Given the description of an element on the screen output the (x, y) to click on. 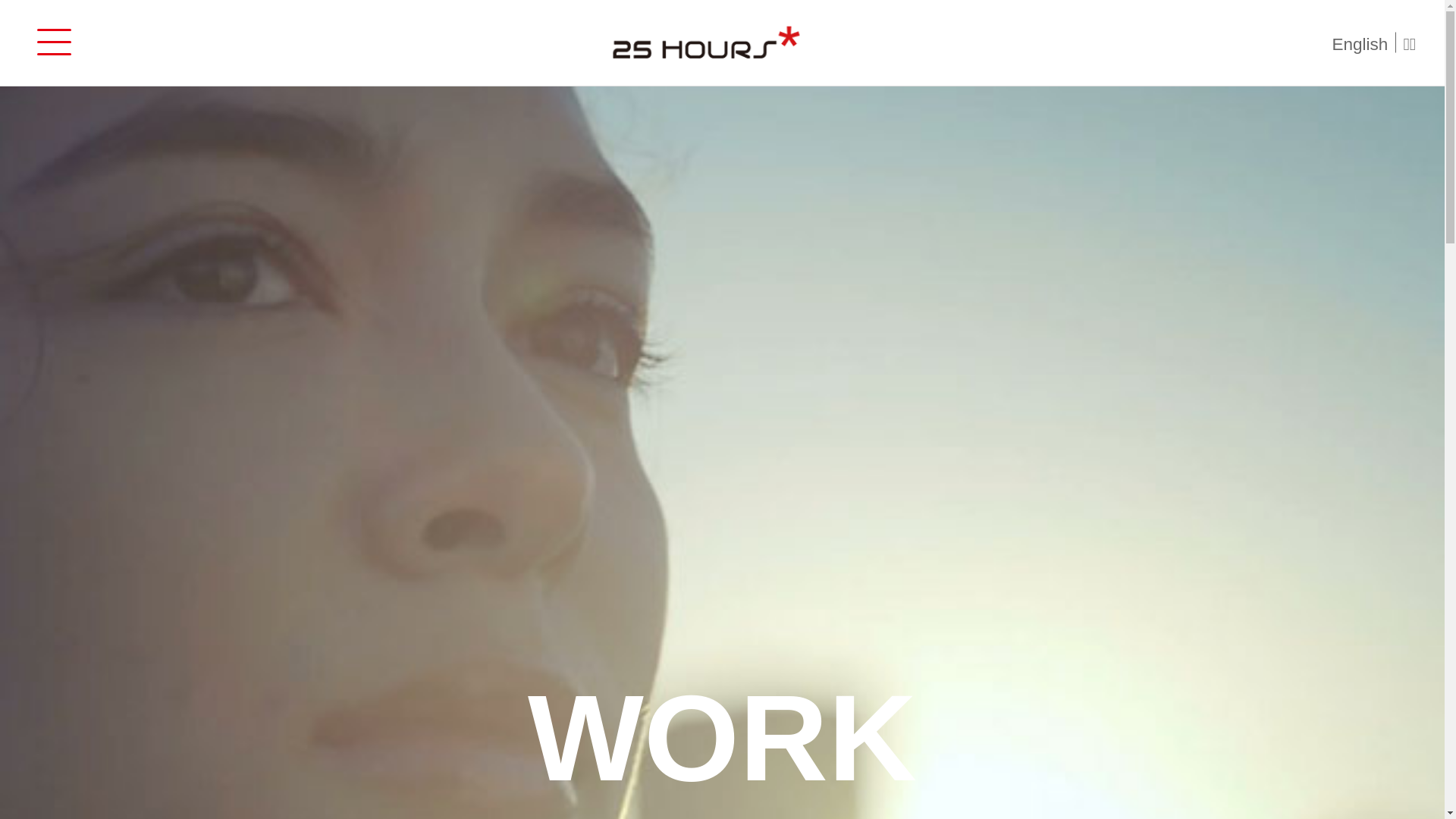
English Element type: text (1363, 42)
WORK Element type: text (722, 737)
